Given the description of an element on the screen output the (x, y) to click on. 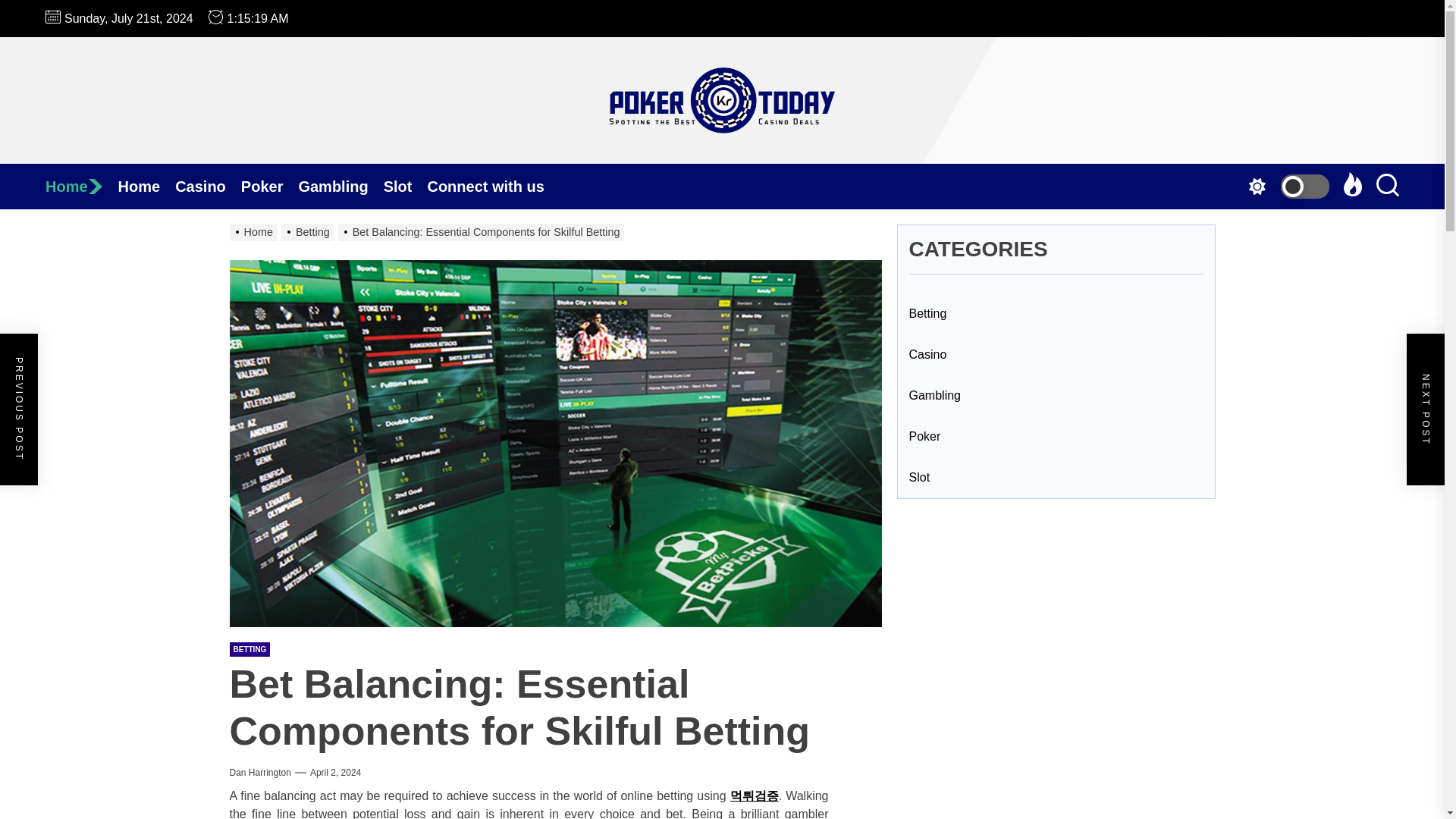
Gambling (340, 186)
Poker (269, 186)
Home (81, 186)
Poker Today Kr (780, 161)
Slot (406, 186)
Home (146, 186)
Casino (207, 186)
Home (81, 186)
Connect with us (492, 186)
